Given the description of an element on the screen output the (x, y) to click on. 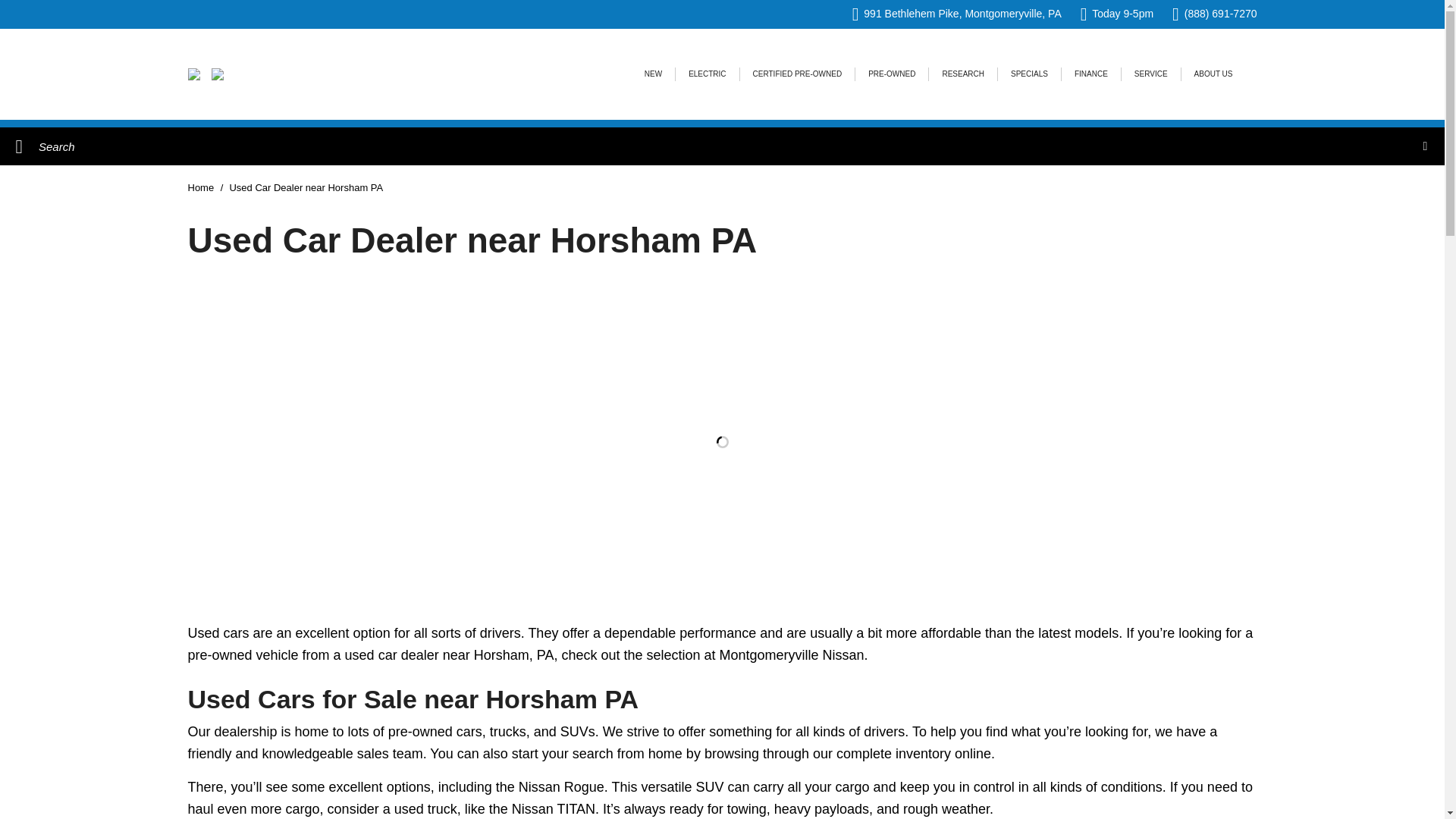
ELECTRIC (707, 74)
Montgomeryville Nissan (193, 73)
Today 9-5pm (1116, 14)
991 Bethlehem Pike, Montgomeryville, PA (956, 14)
NEW (652, 74)
Montgomeryville Nissan (216, 73)
